Given the description of an element on the screen output the (x, y) to click on. 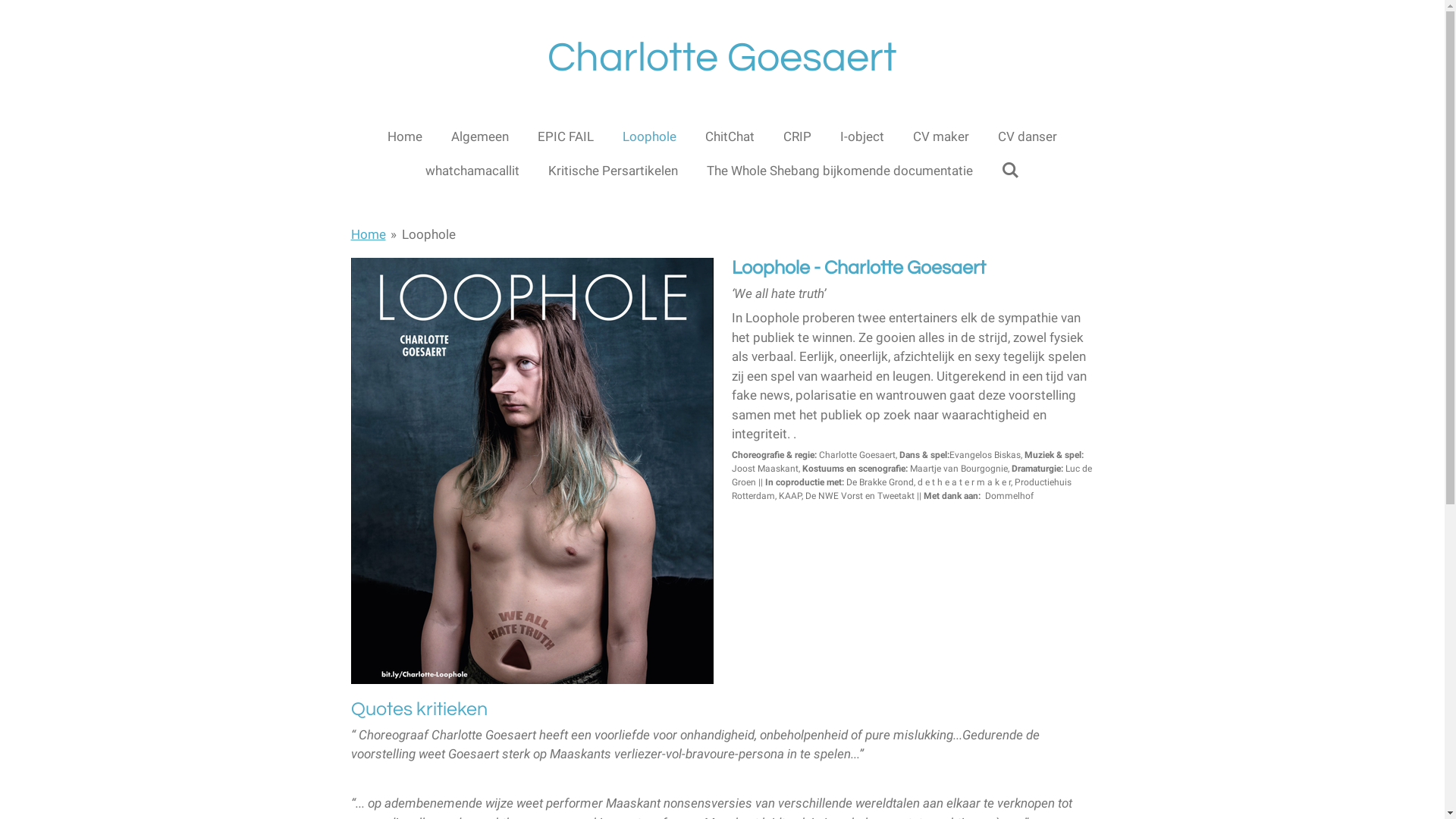
Charlotte Goesaert Element type: text (722, 57)
CV danser Element type: text (1027, 136)
The Whole Shebang bijkomende documentatie Element type: text (839, 171)
Home Element type: text (404, 136)
Loophole Element type: text (649, 136)
Zoeken Element type: hover (1010, 171)
Home Element type: text (367, 233)
Algemeen Element type: text (479, 136)
Loophole Element type: text (428, 233)
whatchamacallit Element type: text (472, 171)
ChitChat Element type: text (729, 136)
Kritische Persartikelen Element type: text (612, 171)
CV maker Element type: text (940, 136)
CRIP Element type: text (797, 136)
I-object Element type: text (861, 136)
EPIC FAIL Element type: text (565, 136)
